Given the description of an element on the screen output the (x, y) to click on. 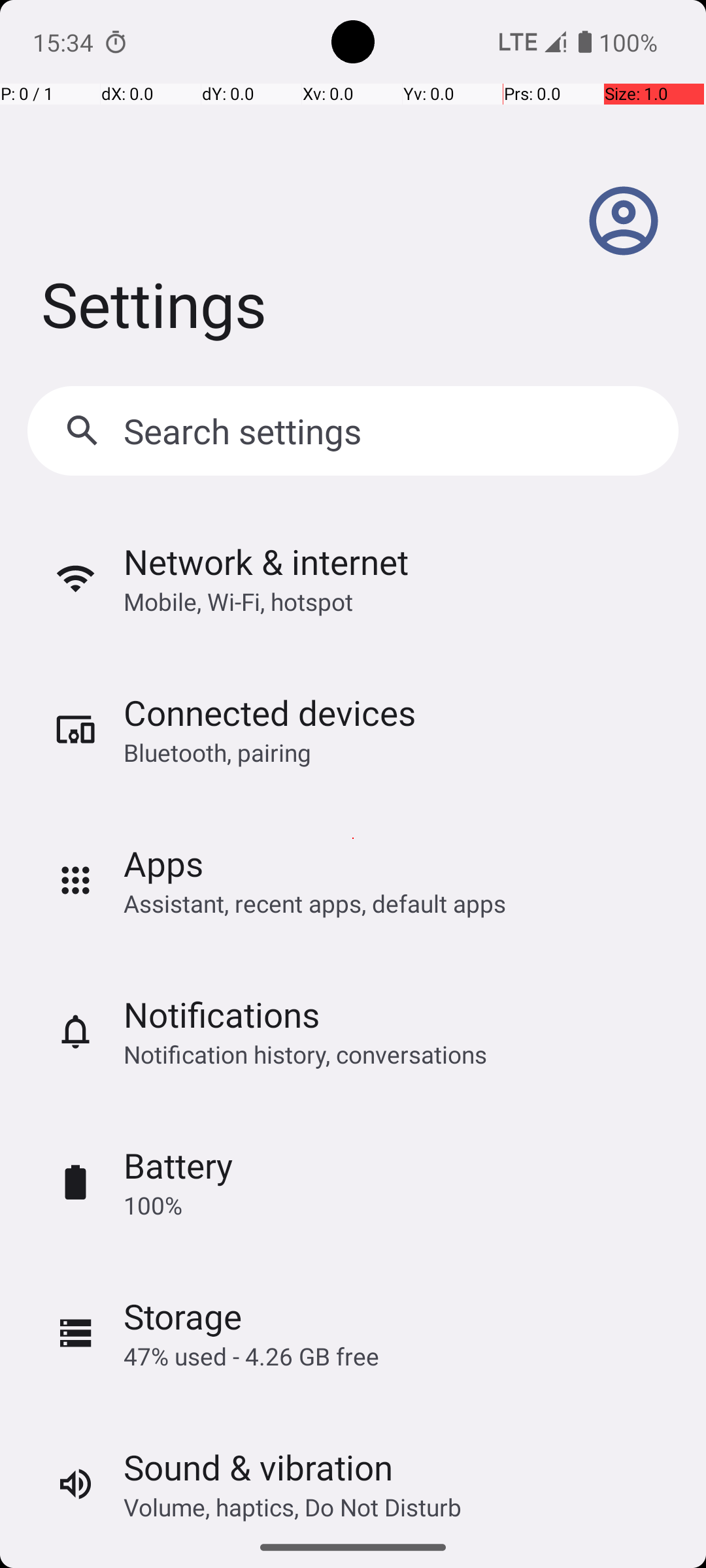
47% used - 4.26 GB free Element type: android.widget.TextView (251, 1355)
